Given the description of an element on the screen output the (x, y) to click on. 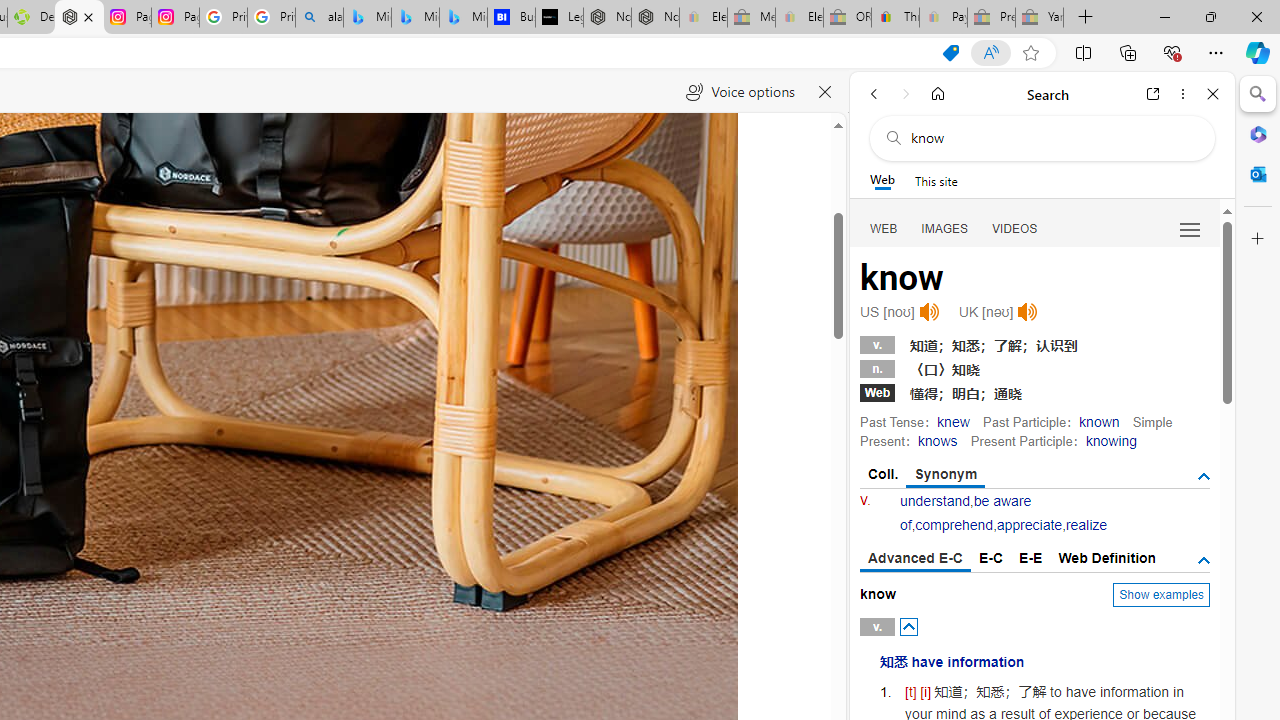
Synonym (945, 475)
knowing (1110, 440)
known (1099, 421)
knew (953, 421)
